Given the description of an element on the screen output the (x, y) to click on. 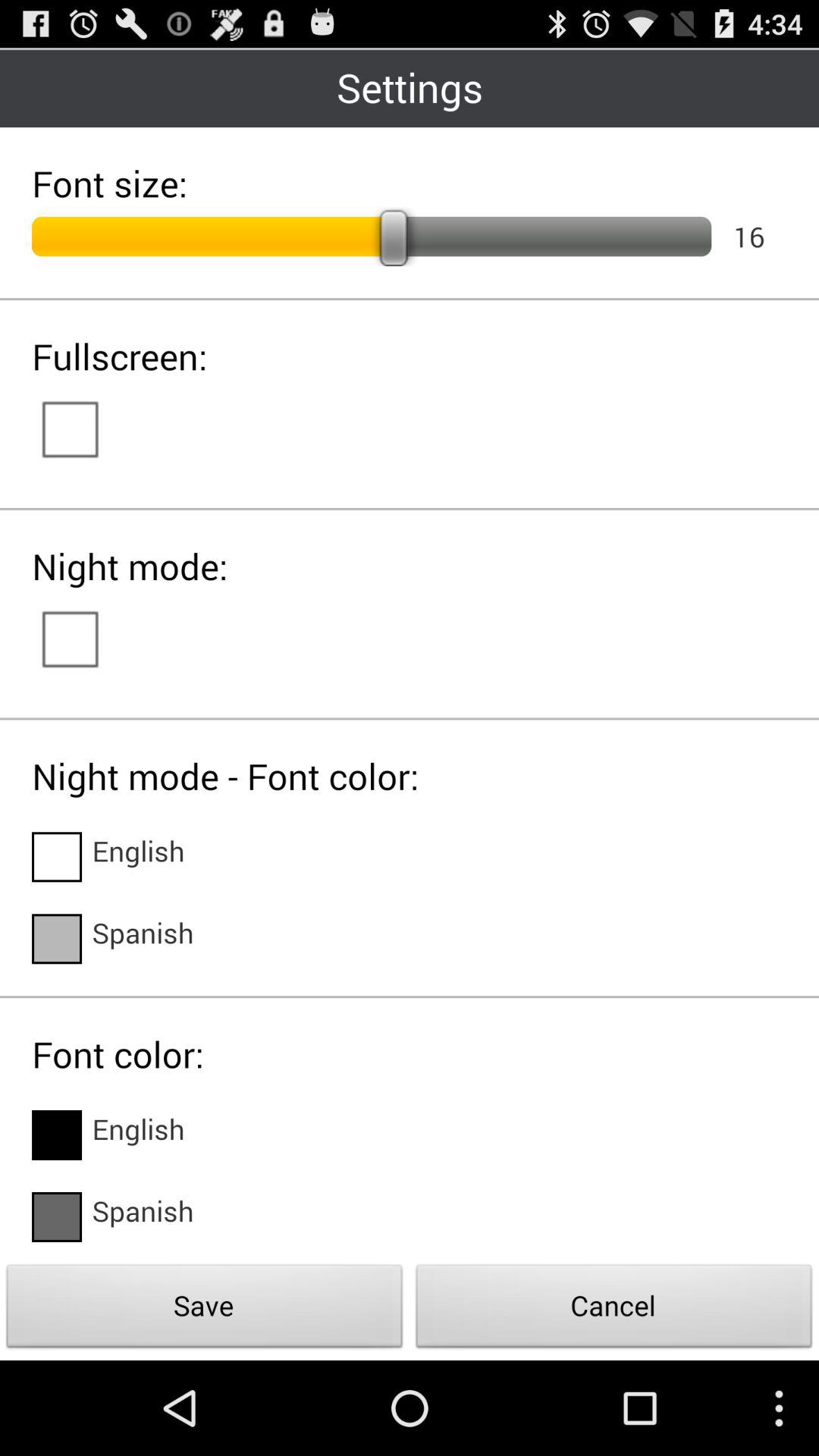
select language (56, 938)
